Given the description of an element on the screen output the (x, y) to click on. 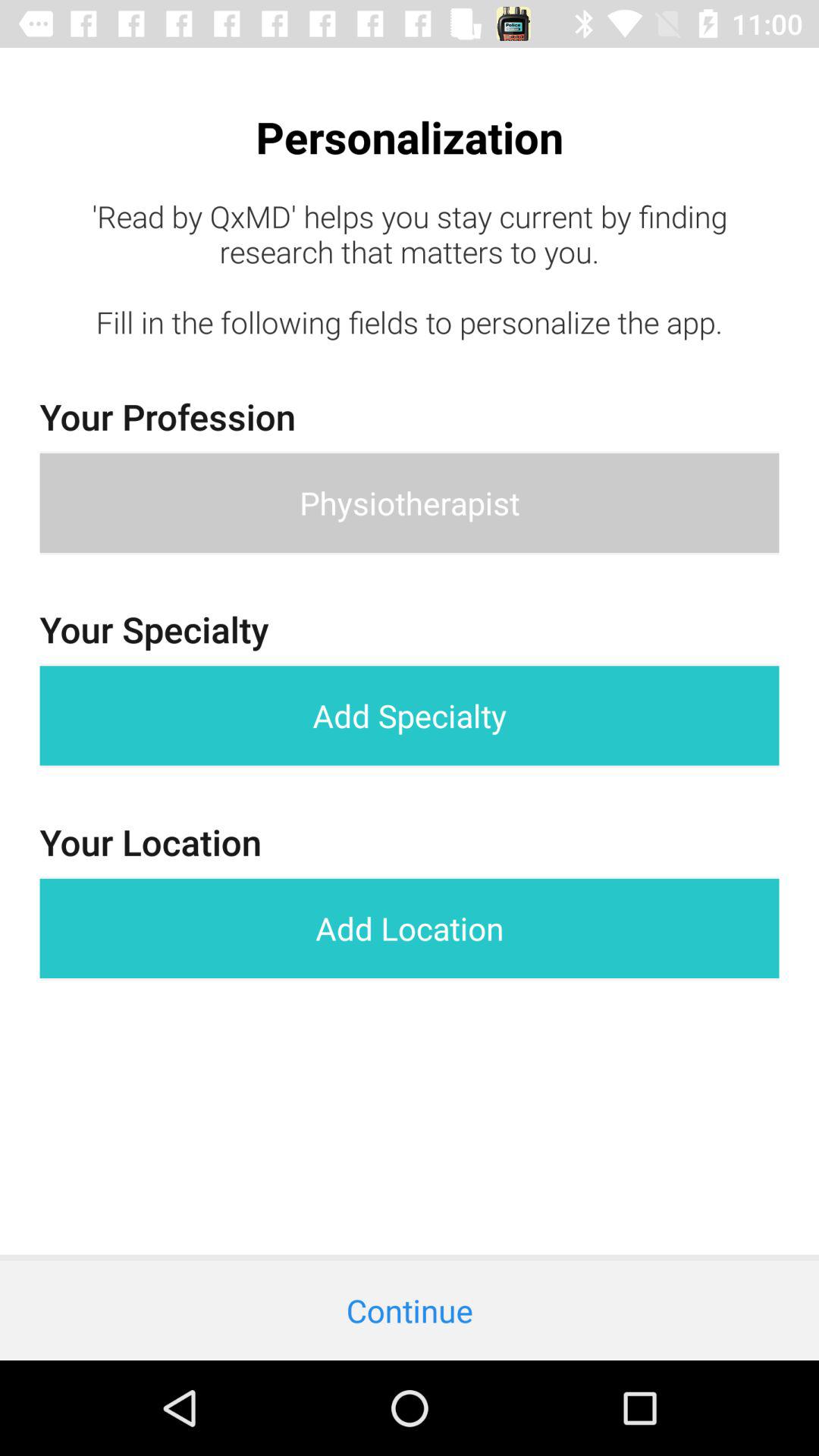
jump until continue (409, 1310)
